Given the description of an element on the screen output the (x, y) to click on. 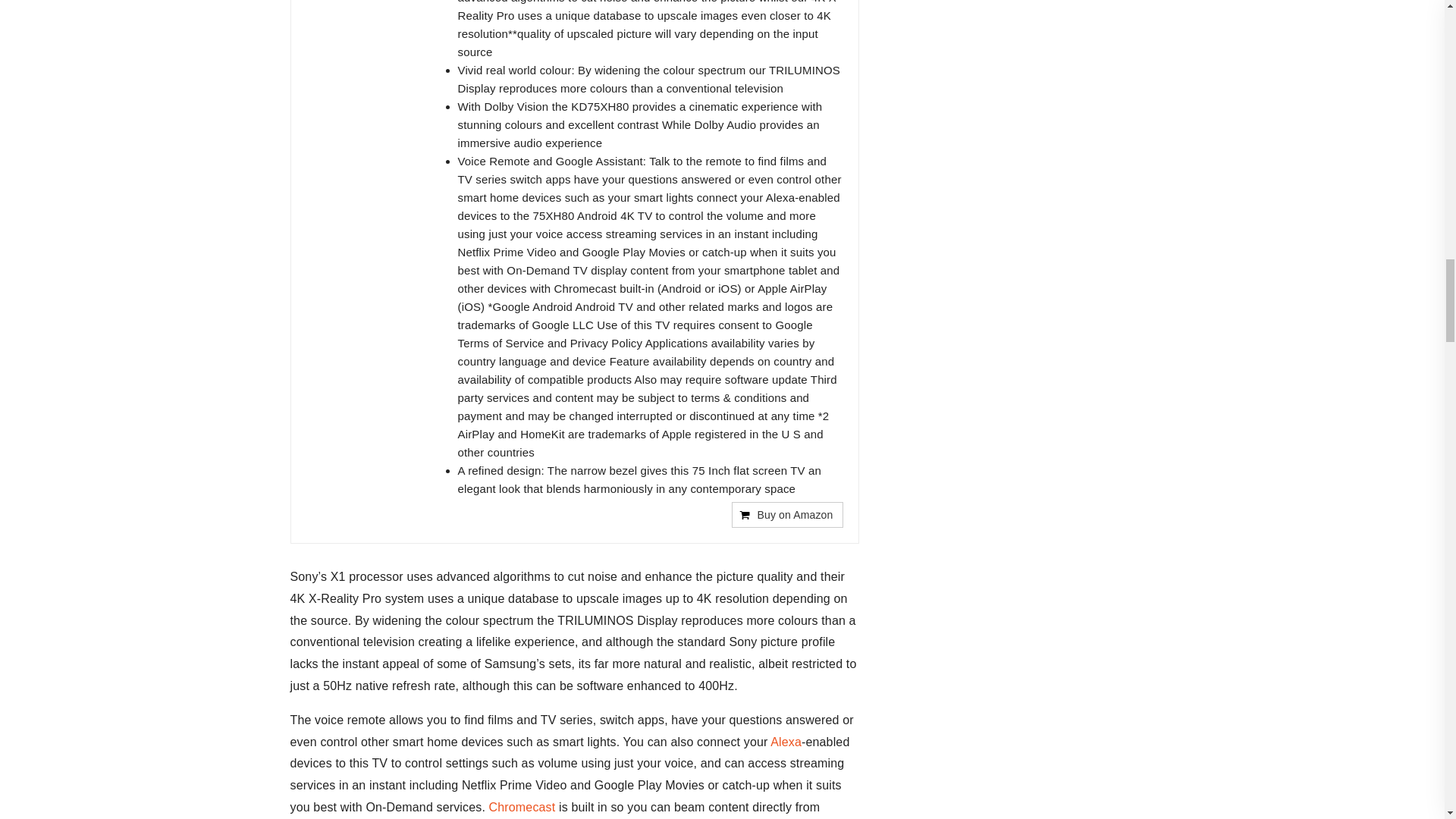
Alexa (786, 741)
Buy on Amazon (787, 514)
Buy on Amazon (787, 514)
